Given the description of an element on the screen output the (x, y) to click on. 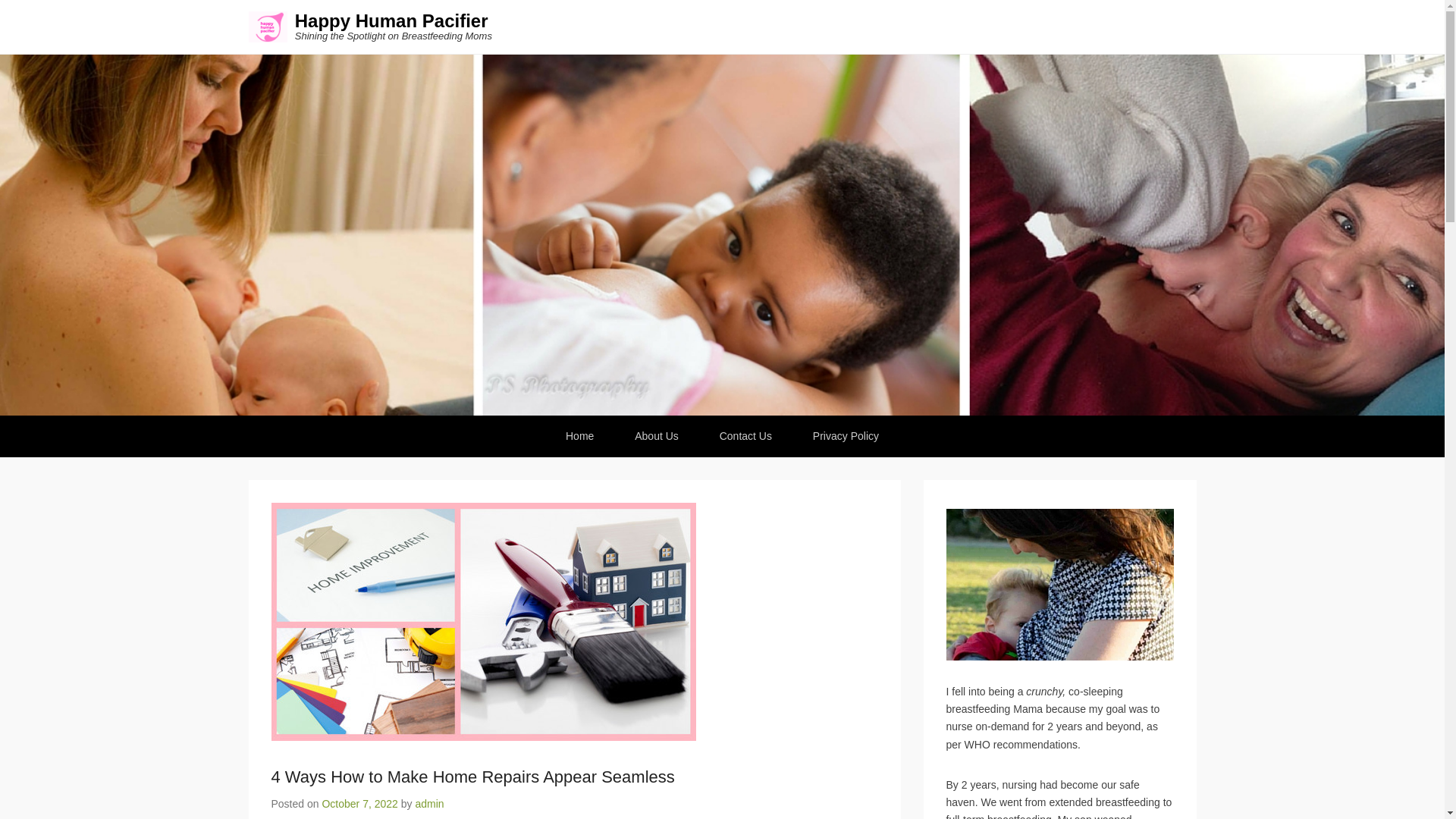
Privacy Policy (845, 436)
View all posts by admin (429, 803)
Contact Us (745, 436)
admin (429, 803)
Home (579, 436)
Happy Human Pacifier (391, 20)
About Us (656, 436)
Happy Human Pacifier (391, 20)
October 7, 2022 (359, 803)
